Given the description of an element on the screen output the (x, y) to click on. 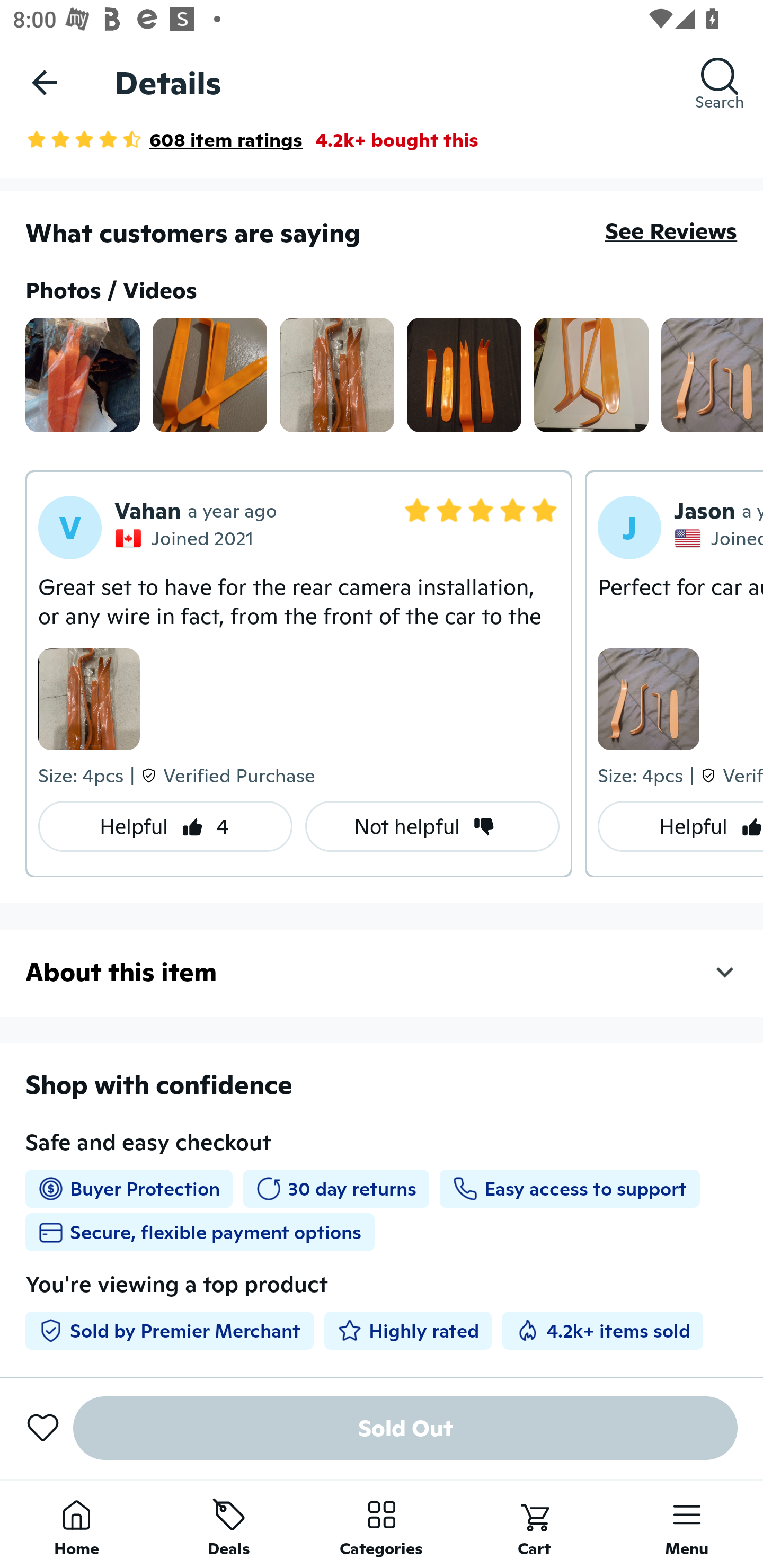
Navigate up (44, 82)
Search (719, 82)
4.4 Star Rating 608 item ratings (163, 139)
See Reviews (671, 231)
V (69, 527)
Vahan (147, 510)
J (629, 527)
Jason (704, 510)
Joined 2021  (185, 537)
Joined 2021  (718, 537)
Helpful 4 (165, 826)
Not helpful (432, 826)
Helpful (680, 826)
About this item (381, 971)
Buyer Protection (128, 1188)
30 day returns (335, 1188)
Easy access to support (569, 1188)
Secure, flexible payment options (199, 1232)
Sold by Premier Merchant (169, 1330)
Highly rated (407, 1330)
4.2k+ items sold (602, 1330)
Sold Out (405, 1428)
Home (76, 1523)
Deals (228, 1523)
Categories (381, 1523)
Cart (533, 1523)
Menu (686, 1523)
